Given the description of an element on the screen output the (x, y) to click on. 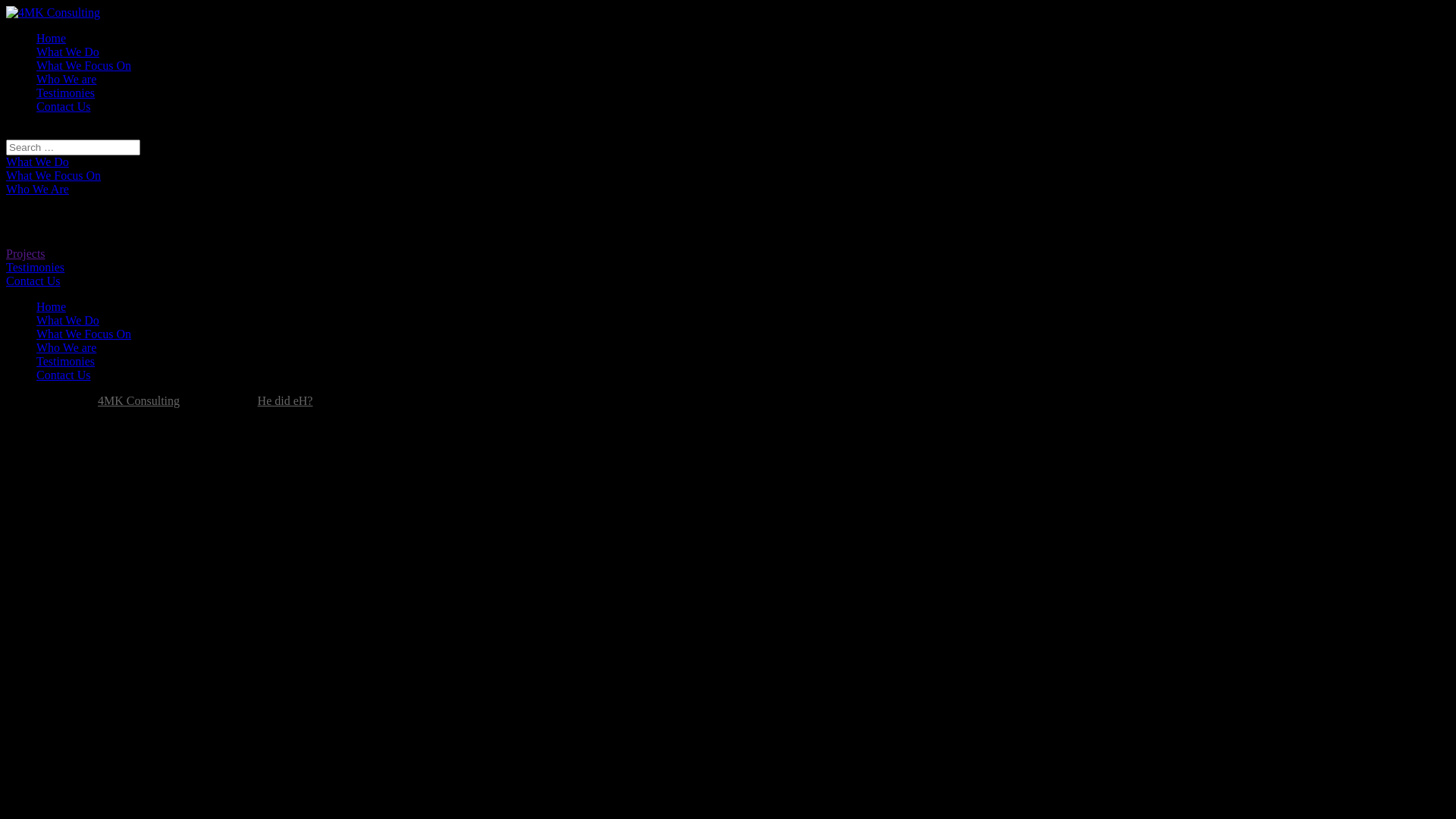
Home Element type: text (50, 37)
4MK Consulting Element type: text (138, 400)
Contact Us Element type: text (63, 374)
Home Element type: text (50, 306)
What We Focus On Element type: text (53, 175)
Projects Element type: text (25, 253)
What We Do Element type: text (37, 161)
Testimonies Element type: text (65, 360)
Testimonies Element type: text (35, 266)
What We Do Element type: text (67, 51)
Who We are Element type: text (66, 347)
What We Focus On Element type: text (83, 65)
Testimonies Element type: text (65, 92)
Search for: Element type: hover (73, 147)
Contact Us Element type: text (33, 280)
What We Do Element type: text (67, 319)
What We Focus On Element type: text (83, 333)
Contact Us Element type: text (63, 106)
Who We are Element type: text (66, 78)
He did eH? Element type: text (285, 400)
Who We Are Element type: text (37, 188)
